Given the description of an element on the screen output the (x, y) to click on. 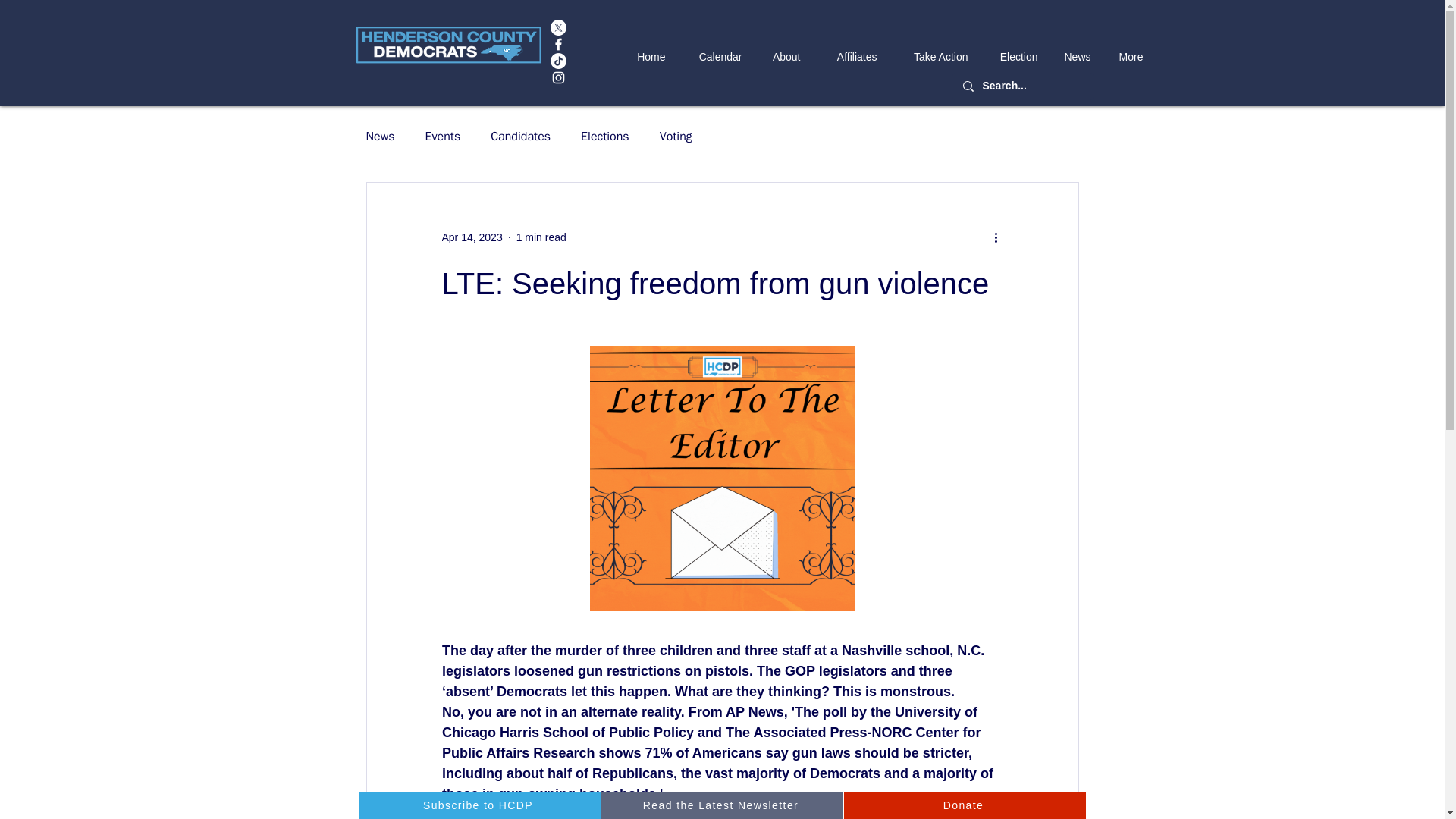
Home (648, 56)
Calendar (714, 56)
Affiliates (849, 56)
Apr 14, 2023 (471, 236)
News (1075, 56)
News (379, 136)
Elections (604, 136)
Events (443, 136)
Voting (676, 136)
Candidates (520, 136)
1 min read (541, 236)
